Given the description of an element on the screen output the (x, y) to click on. 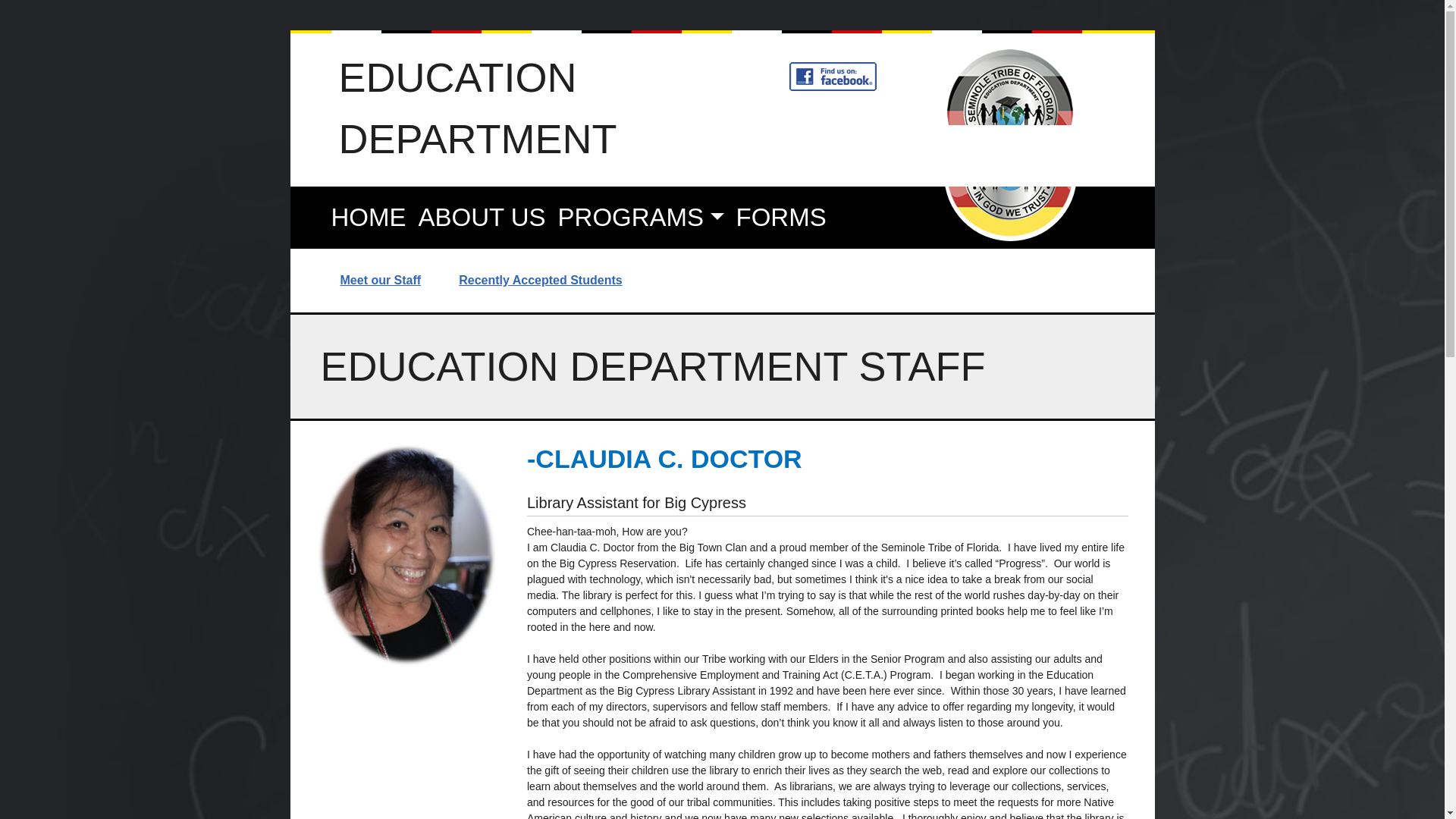
Meet our Staff (398, 280)
RESOURCES (409, 267)
CONTACT US (592, 267)
PROGRAMS (640, 217)
Recently Accepted Students (558, 280)
HOME (368, 217)
Claudia Doctor (407, 554)
ABOUT US (481, 217)
FORMS (781, 217)
